Given the description of an element on the screen output the (x, y) to click on. 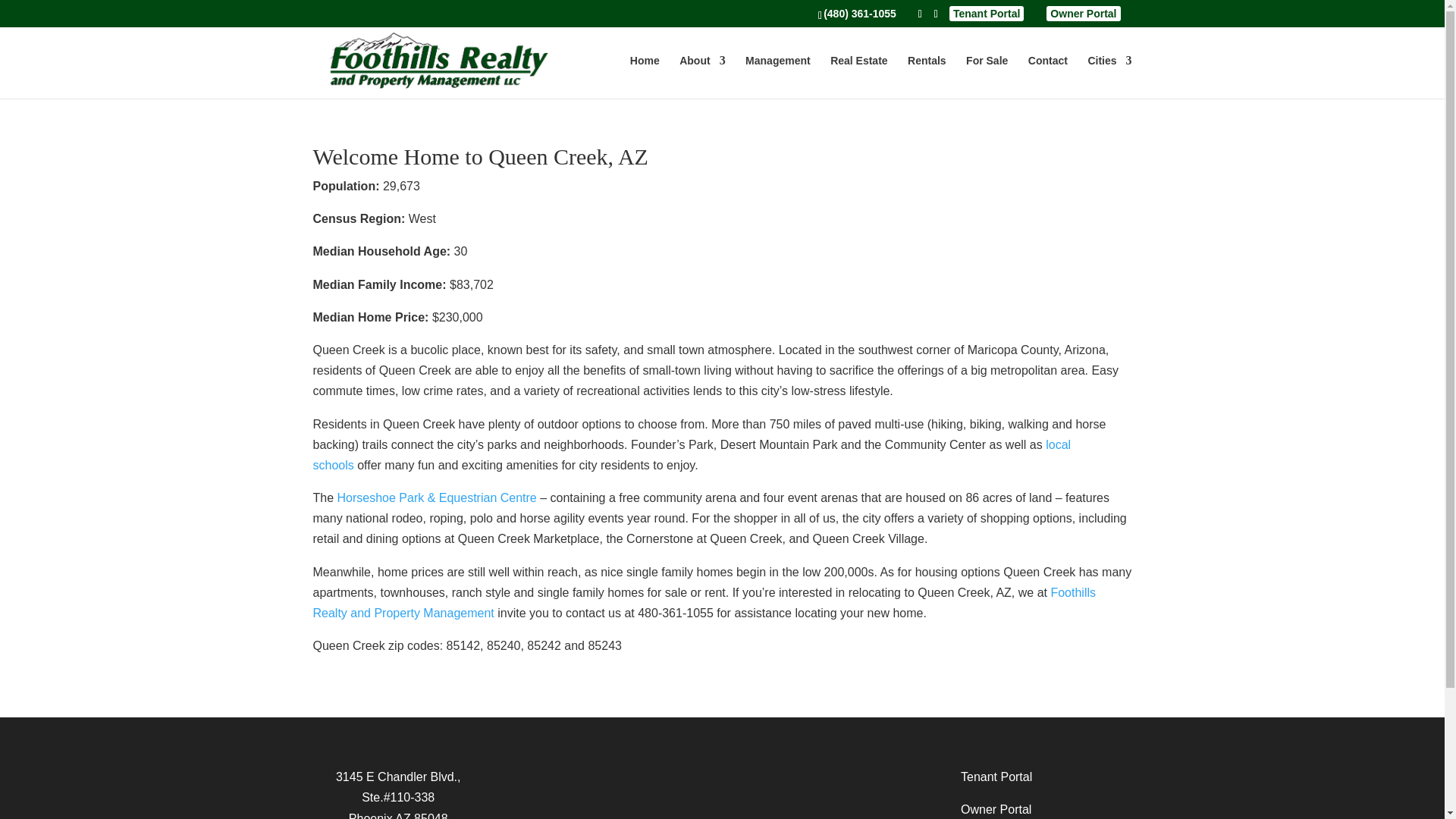
Real Estate (857, 76)
Owner Portal (995, 809)
Foothills Realty and Property Management (704, 602)
Rentals (926, 76)
Owner Portal (1082, 13)
Tenant Portal (986, 13)
Tenant Portal (996, 776)
Cities (1109, 76)
Contact (1047, 76)
For Sale (986, 76)
